Given the description of an element on the screen output the (x, y) to click on. 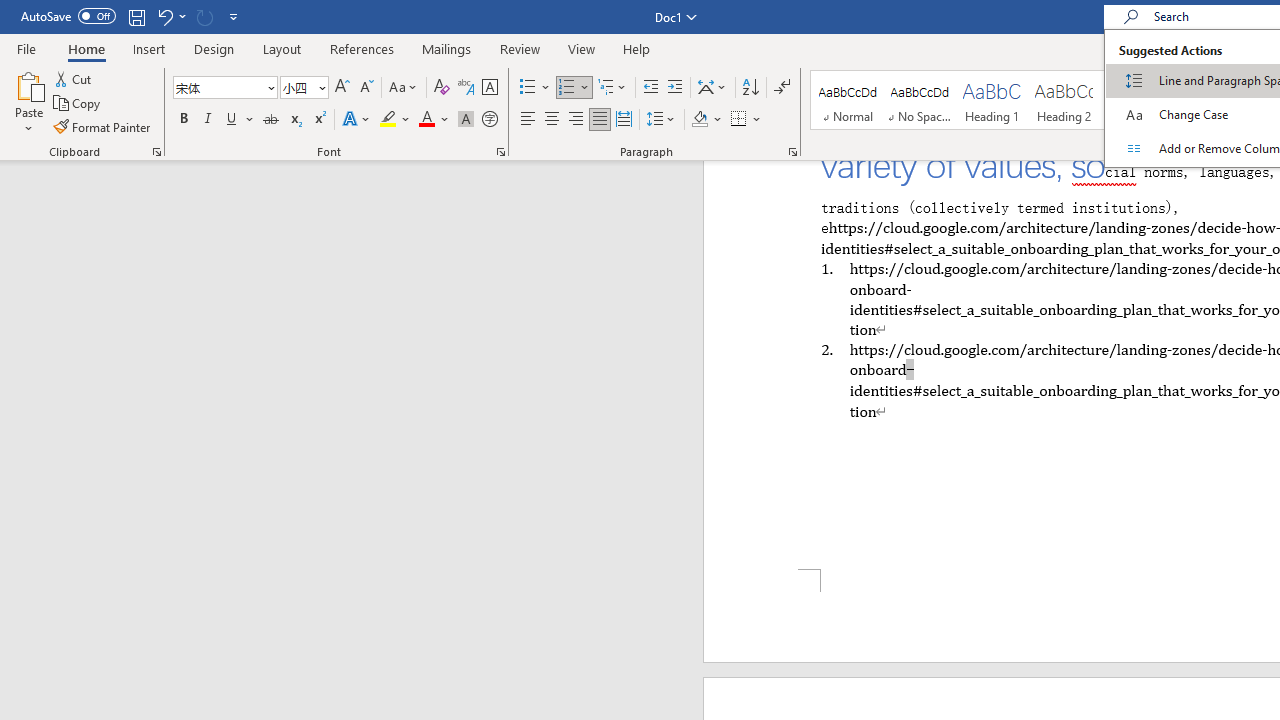
Justify (599, 119)
Shading RGB(0, 0, 0) (699, 119)
Shrink Font (365, 87)
Paste (28, 102)
Shading (706, 119)
